Given the description of an element on the screen output the (x, y) to click on. 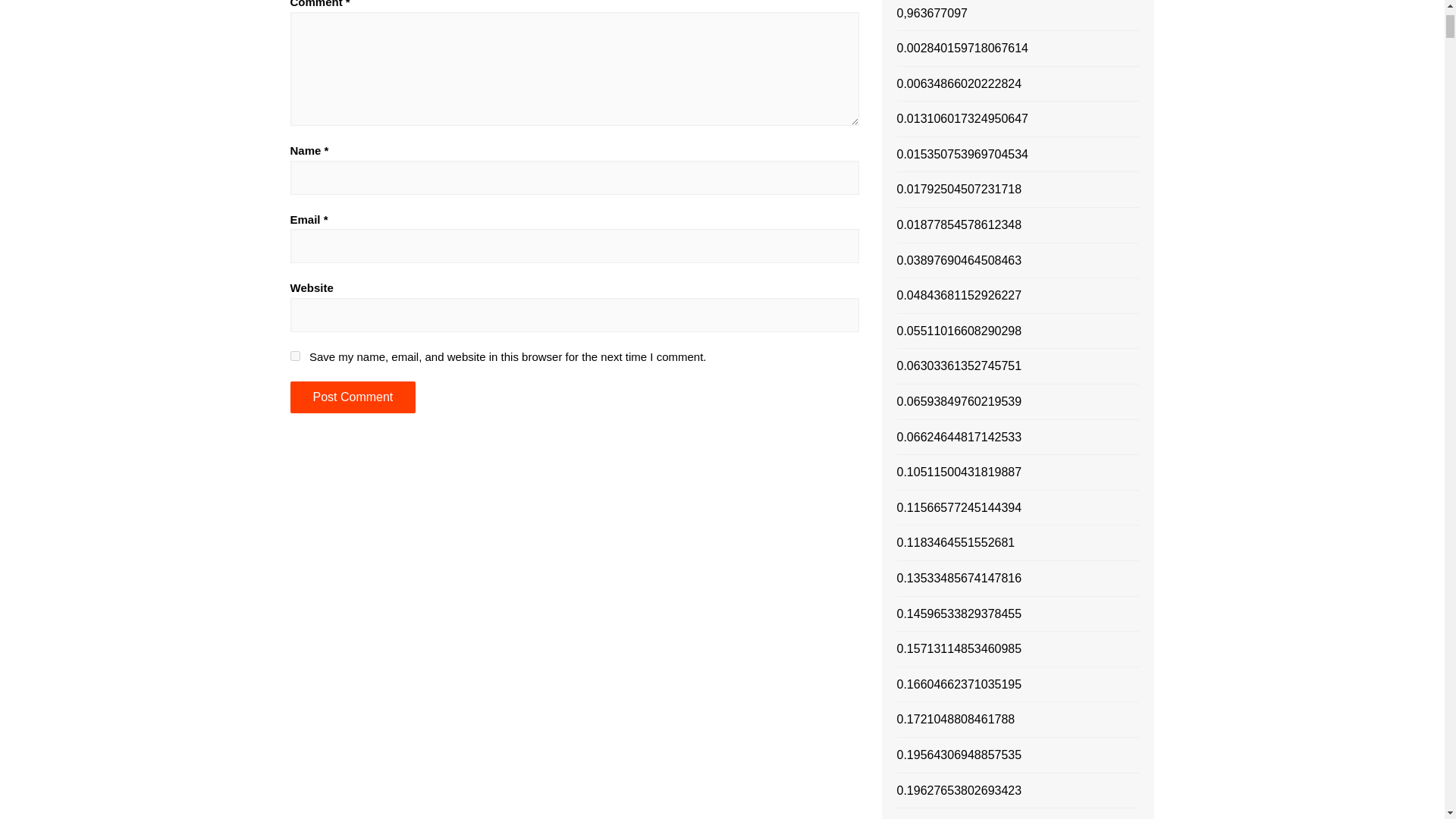
Post Comment (351, 397)
Post Comment (351, 397)
yes (294, 356)
